Given the description of an element on the screen output the (x, y) to click on. 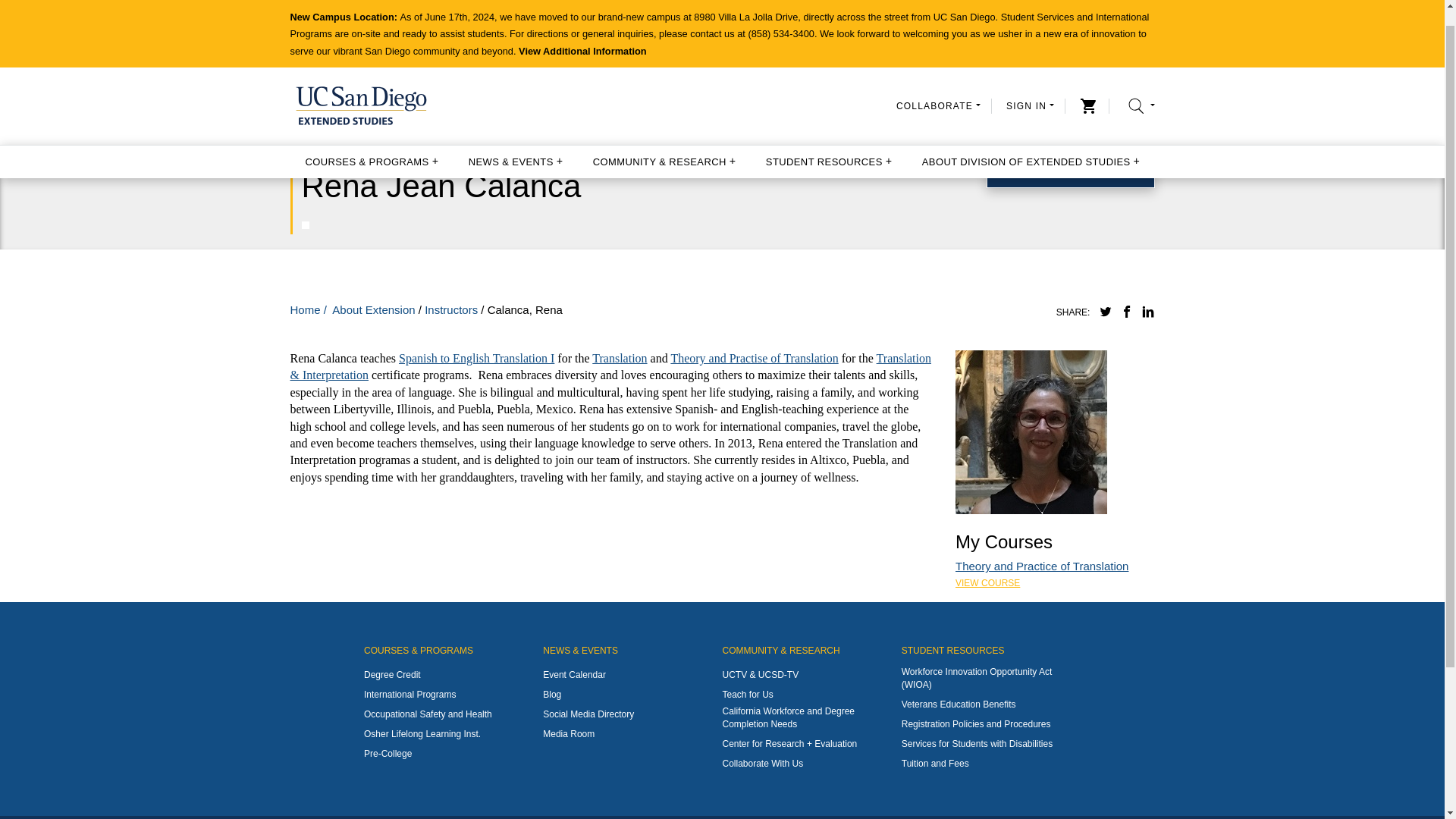
SIGN IN (1030, 86)
COLLABORATE (937, 86)
View Additional Information (582, 31)
